Given the description of an element on the screen output the (x, y) to click on. 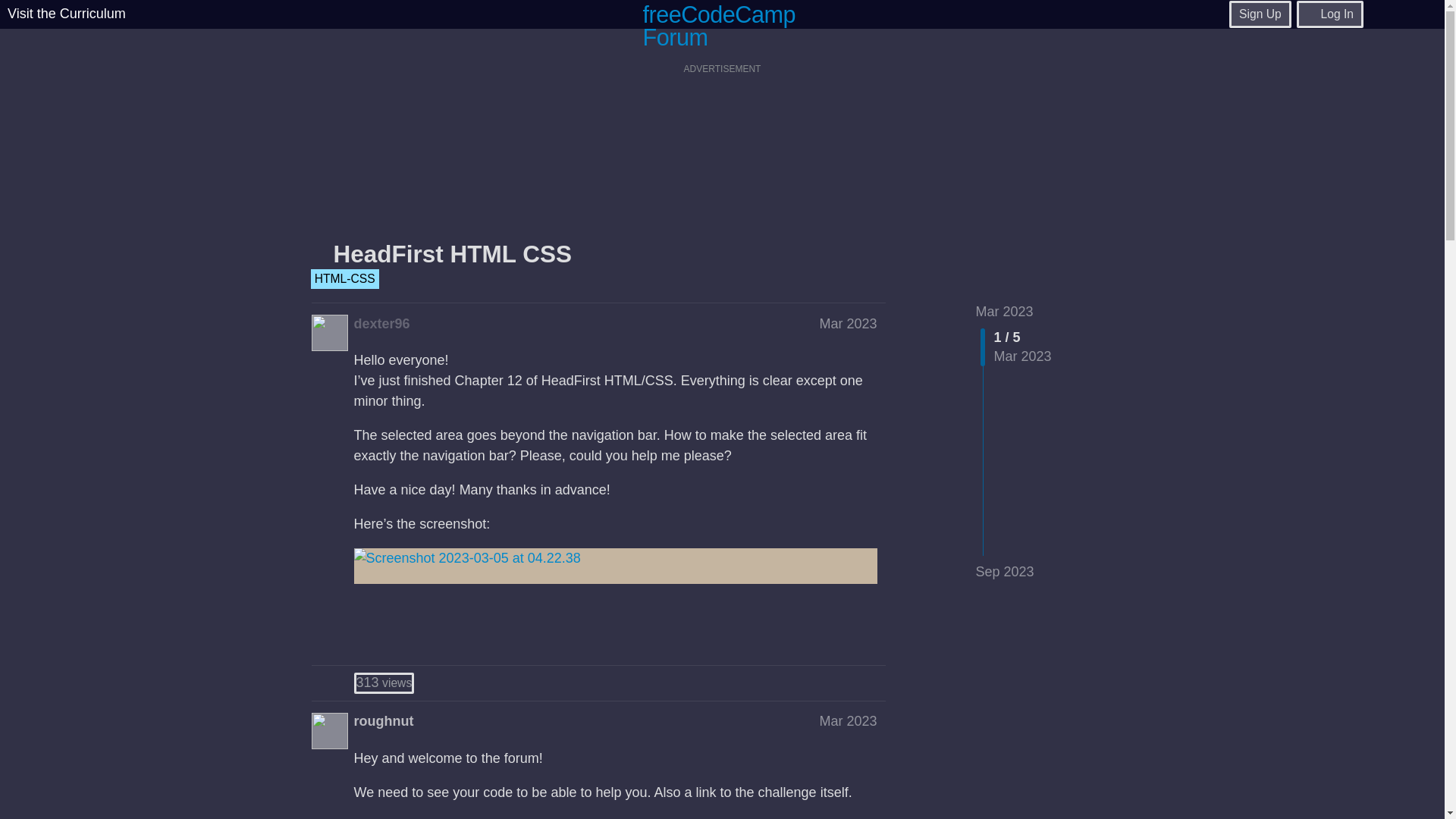
Log In (1329, 13)
Search (1388, 14)
Post date (847, 720)
copy a link to this post to clipboard (869, 636)
Jump to the last post (1004, 571)
Mar 2023 (847, 323)
Mar 2023 (383, 682)
Please sign up or log in to like this post (1003, 311)
